Given the description of an element on the screen output the (x, y) to click on. 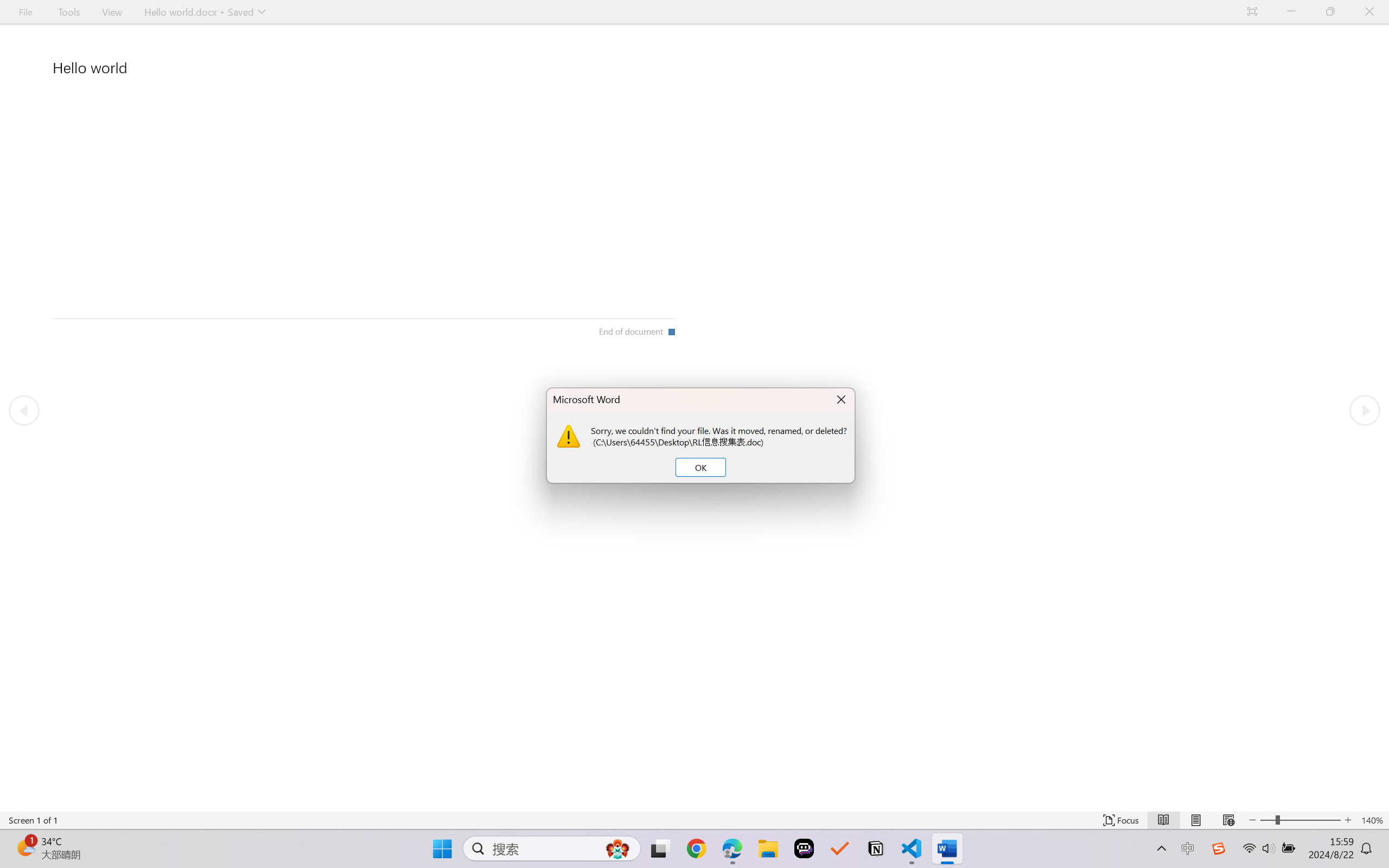
Class: NetUIScrollBar (694, 803)
Close (1369, 11)
OK (700, 467)
Auto-hide Reading Toolbar (1252, 11)
Read Mode (1163, 819)
Class: Image (1218, 847)
Minimize (1291, 11)
Zoom In (1310, 819)
Increase Text Size (1348, 819)
